Given the description of an element on the screen output the (x, y) to click on. 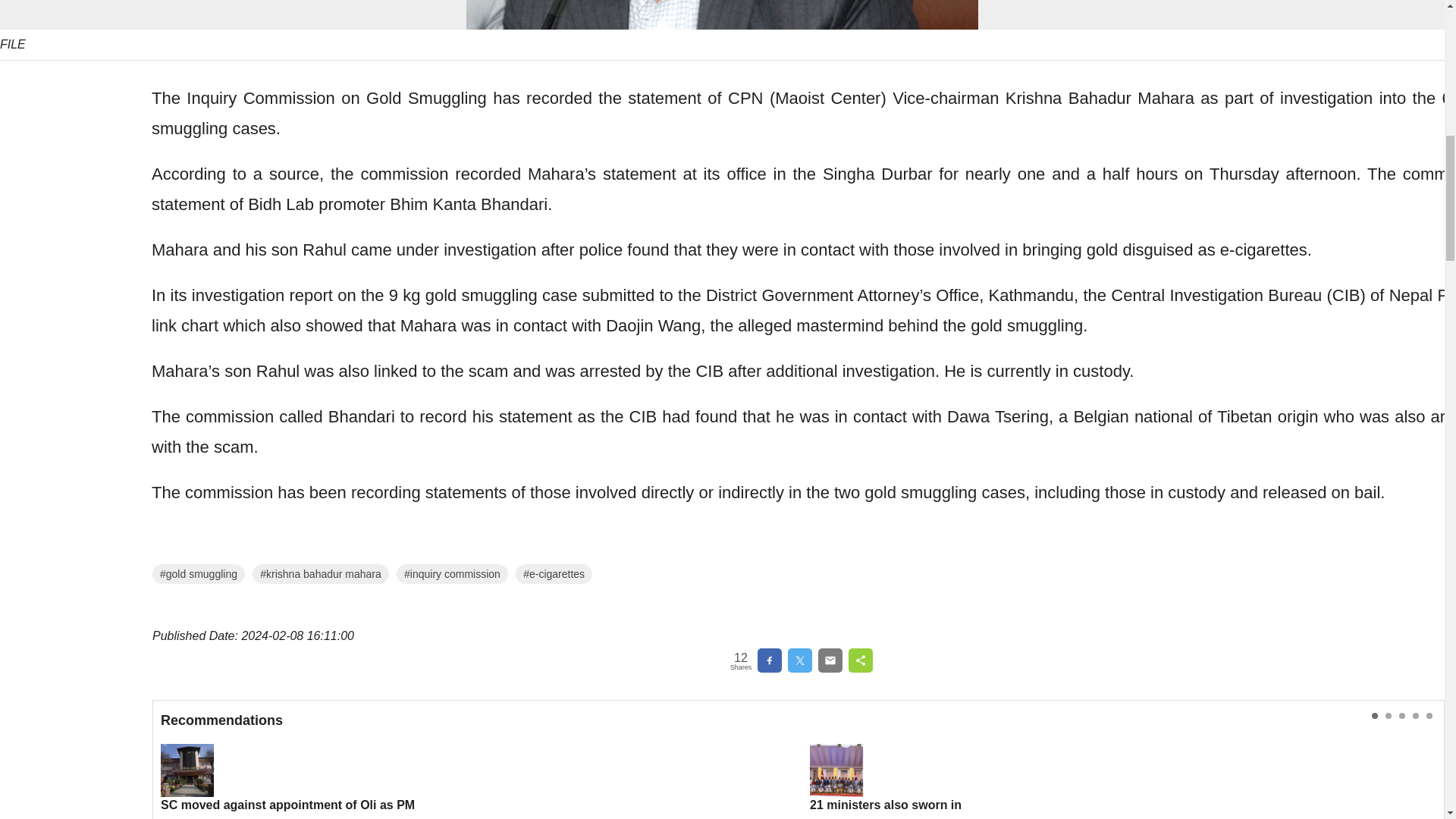
21 ministers also sworn in (1122, 778)
krishna bahadur mahara (319, 573)
gold smuggling (198, 573)
SC moved against appointment of Oli as PM (473, 778)
